Given the description of an element on the screen output the (x, y) to click on. 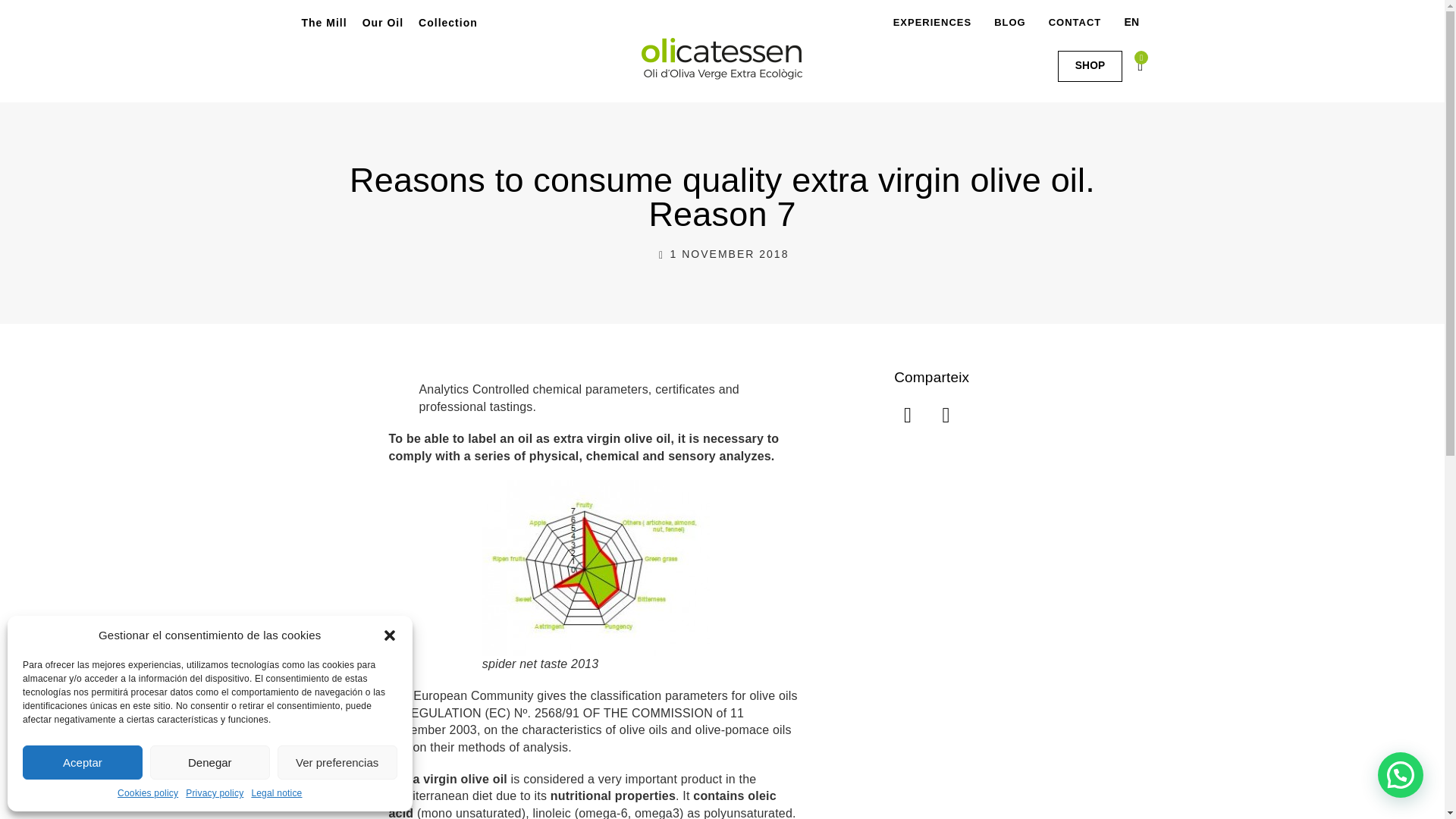
EXPERIENCES (933, 22)
Legal notice (275, 793)
Our Oil (382, 22)
The Mill (324, 22)
Ver preferencias (337, 762)
Privacy policy (214, 793)
CONTACT (1074, 22)
BLOG (1009, 22)
Cookies policy (147, 793)
Denegar (209, 762)
Collection (447, 22)
Aceptar (82, 762)
